Given the description of an element on the screen output the (x, y) to click on. 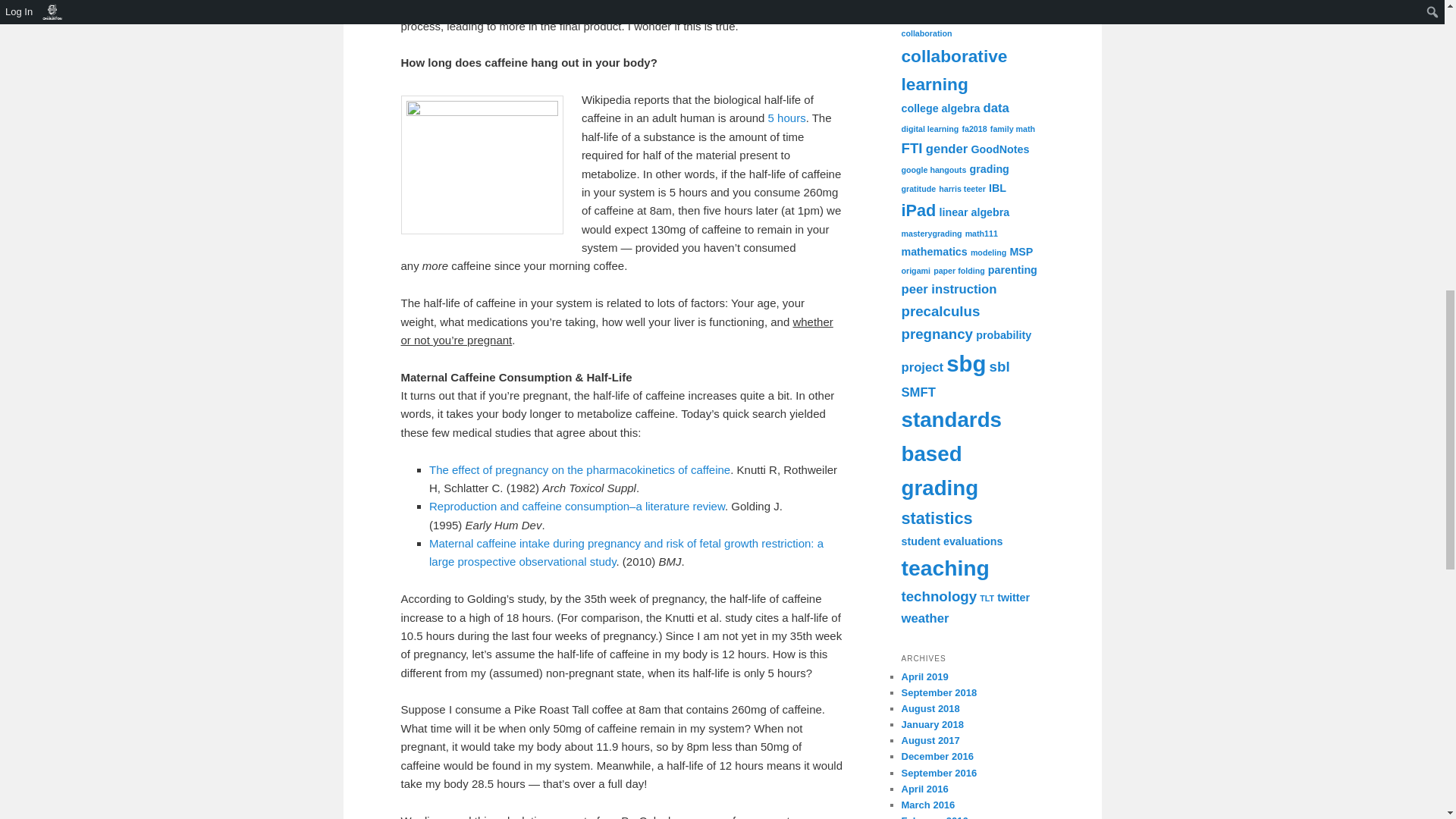
5 hours (784, 117)
The effect of pregnancy on the pharmacokinetics of caffeine (579, 469)
